Given the description of an element on the screen output the (x, y) to click on. 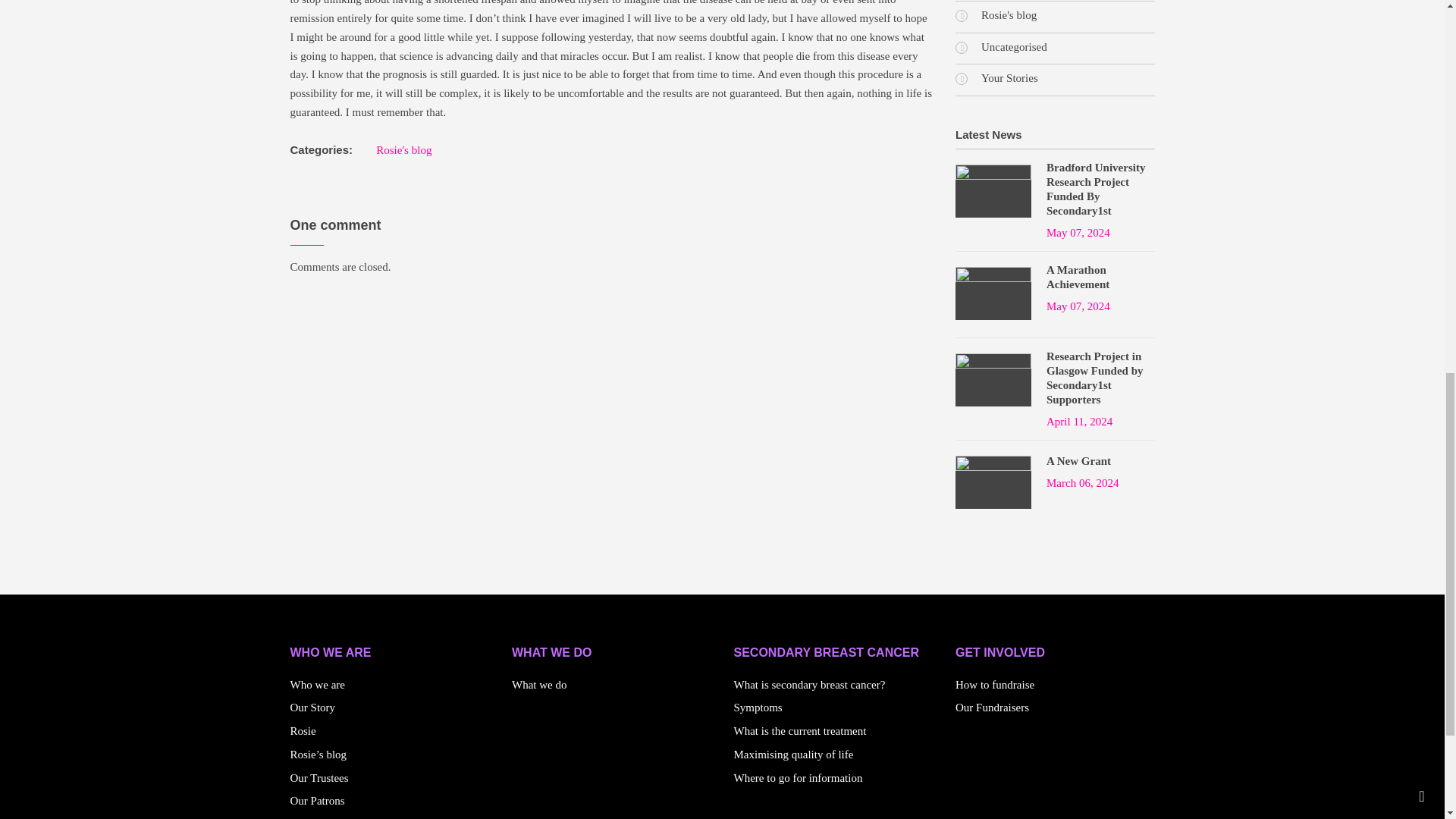
Permalink to A Marathon Achievement (1100, 276)
Permalink to A New Grant (1078, 461)
